Given the description of an element on the screen output the (x, y) to click on. 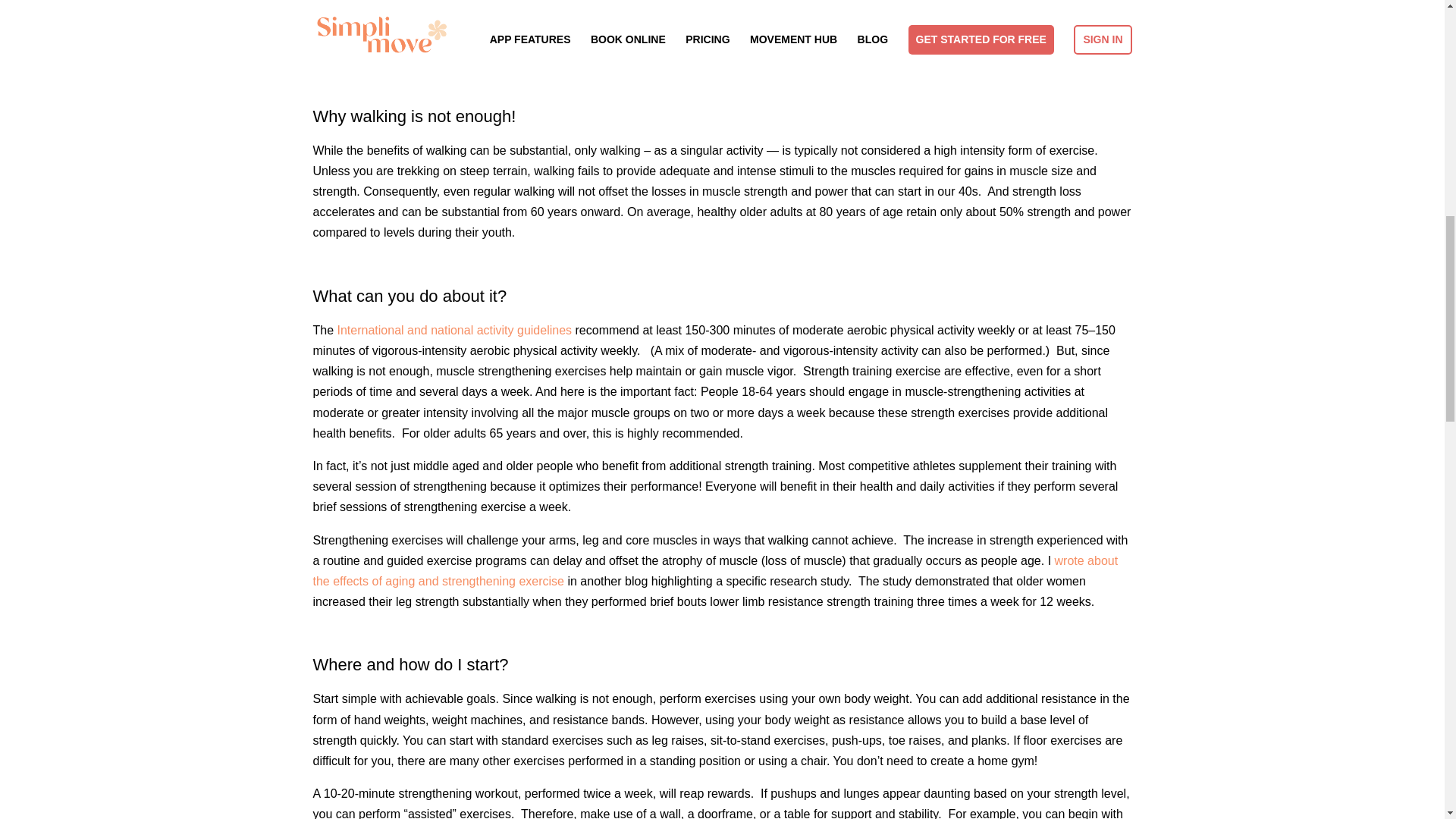
International and national activity guidelines (454, 329)
wrote about the effects of aging and strengthening exercise (715, 571)
previous blog (715, 2)
